Given the description of an element on the screen output the (x, y) to click on. 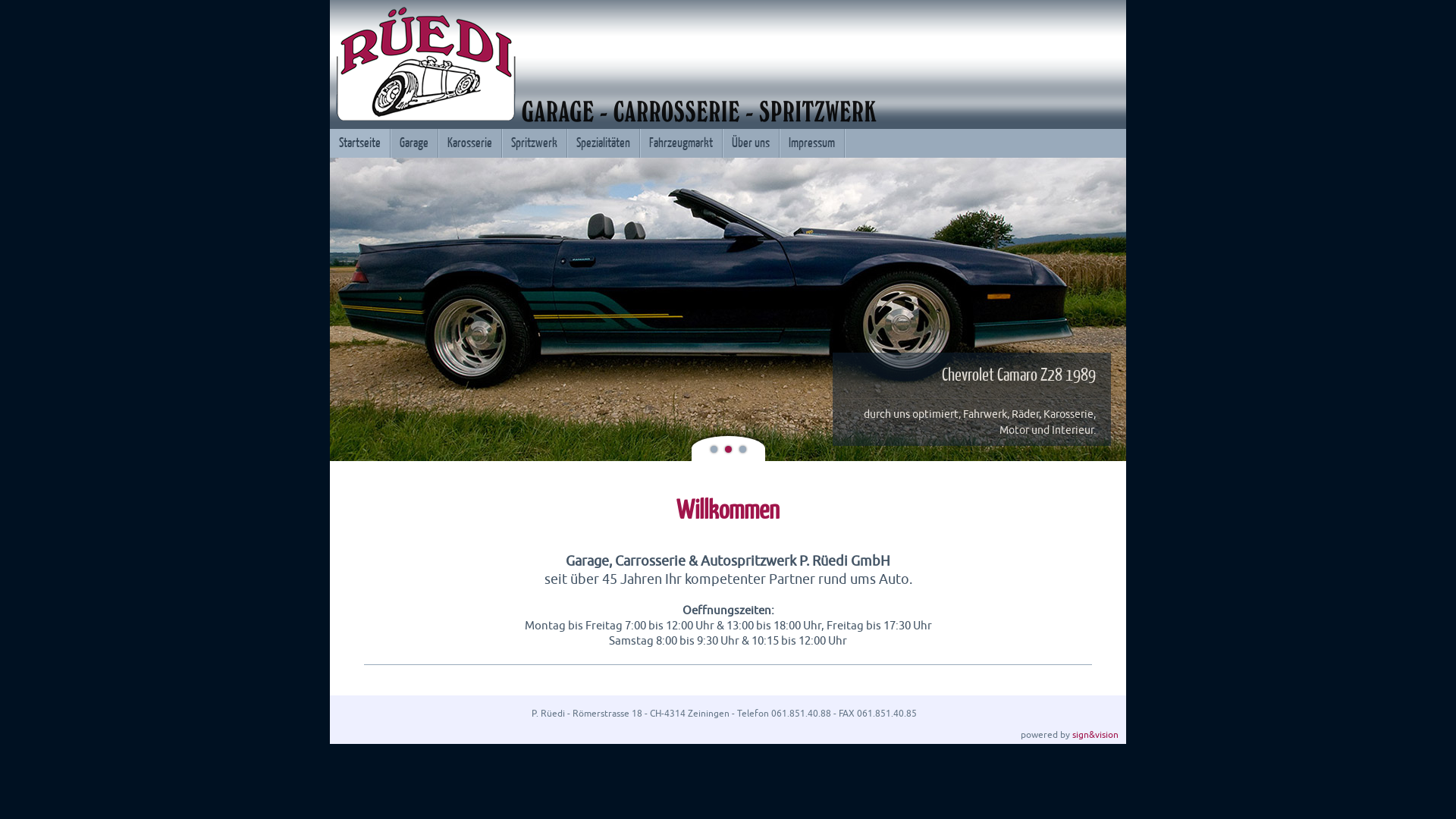
Garage Element type: text (414, 142)
Startseite Element type: text (359, 142)
Impressum Element type: text (811, 142)
Karosserie Element type: text (470, 142)
Fahrzeugmarkt Element type: text (681, 142)
Spritzwerk Element type: text (534, 142)
sign&vision Element type: text (1095, 734)
1 Element type: text (712, 448)
3 Element type: text (741, 448)
2 Element type: text (727, 448)
